Given the description of an element on the screen output the (x, y) to click on. 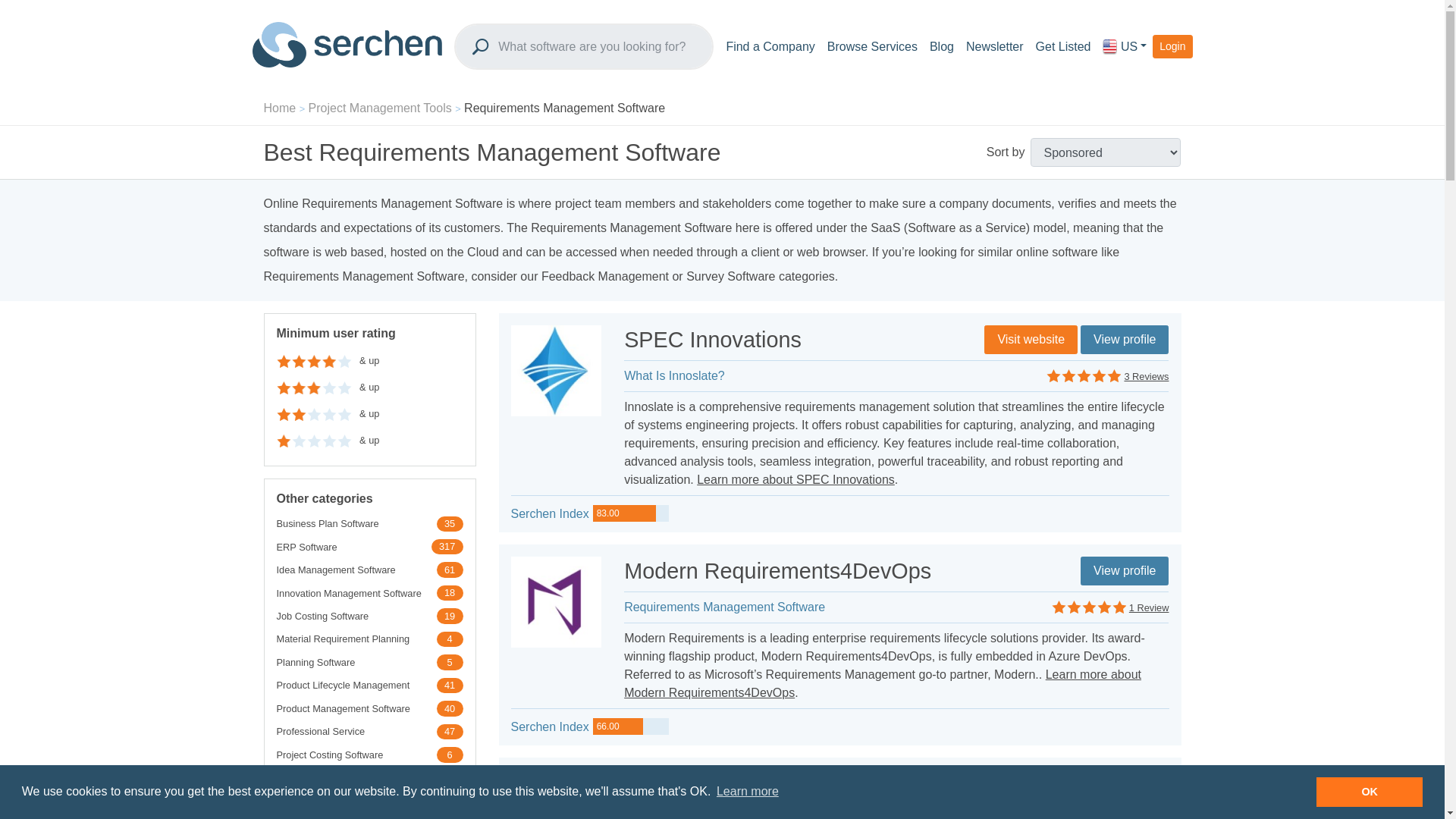
Product Lifecycle Management (342, 685)
40 (449, 708)
Idea Management Software (335, 569)
Learn more (747, 791)
Home (280, 107)
Professional Service (320, 730)
Planning Software (315, 662)
Innovation Management Software (348, 592)
Business Plan Software (327, 523)
Browse Services (872, 46)
41 (449, 685)
47 (449, 731)
ERP Software (306, 546)
Login (1172, 46)
5 (449, 661)
